Given the description of an element on the screen output the (x, y) to click on. 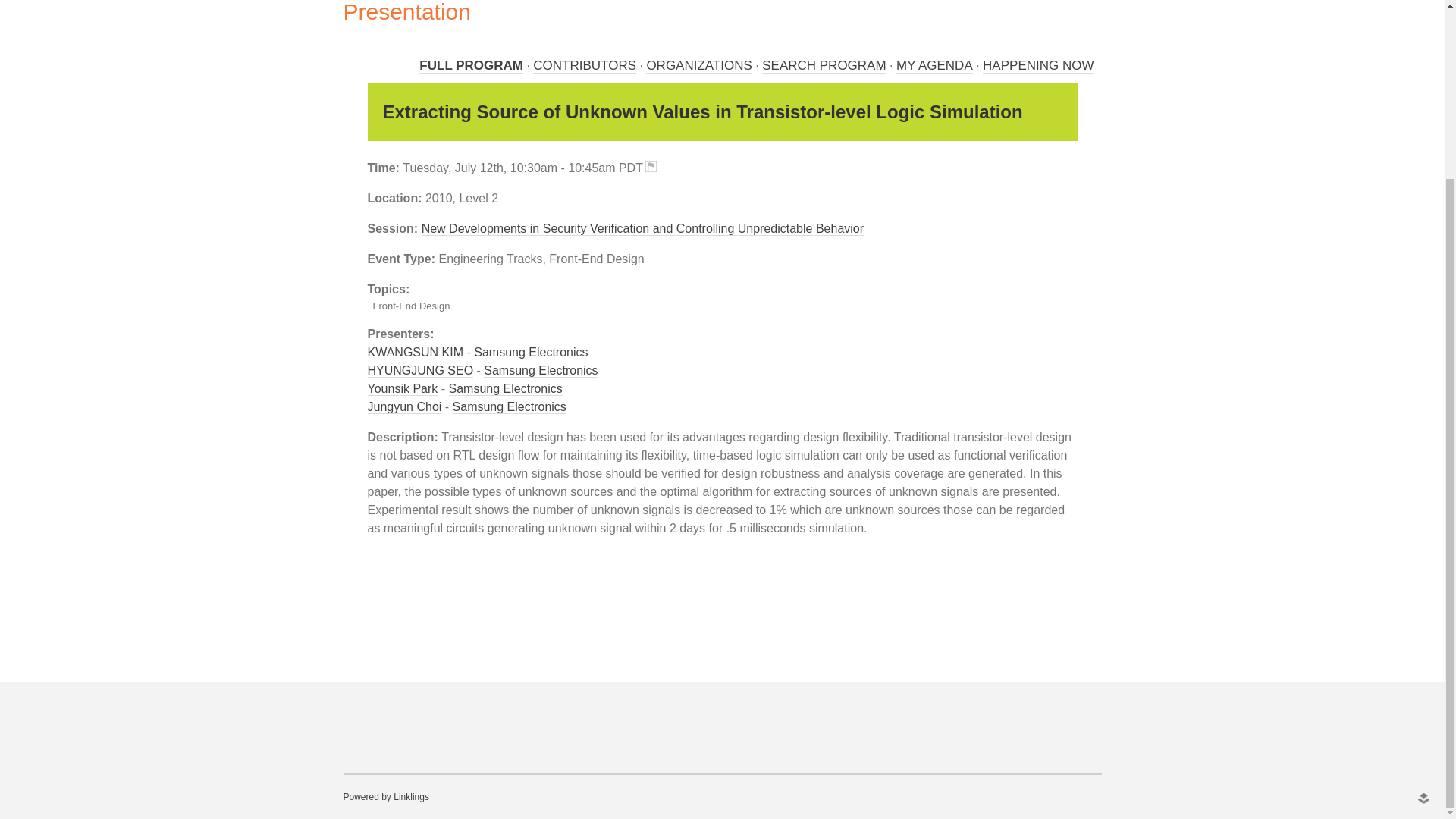
Samsung Electronics (505, 388)
MY AGENDA (934, 65)
Powered by Linklings (385, 796)
KWANGSUN KIM (414, 352)
Samsung Electronics (539, 370)
HYUNGJUNG SEO (419, 370)
Younsik Park (402, 388)
CONTRIBUTORS (584, 65)
Jungyun Choi (403, 407)
FULL PROGRAM (470, 65)
